Given the description of an element on the screen output the (x, y) to click on. 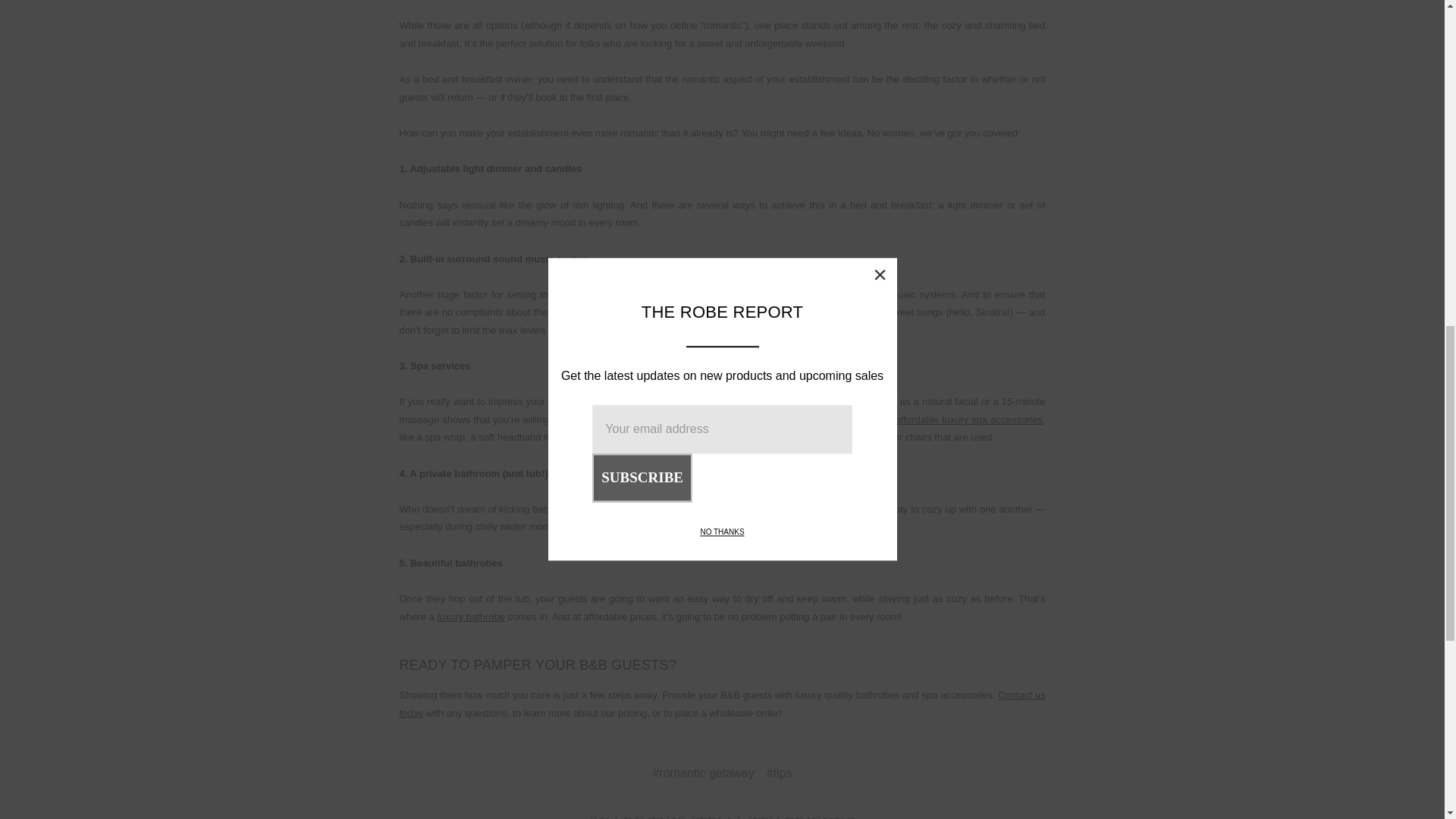
luxury bathrobe (470, 616)
Contact us today (721, 703)
affordable luxury spa accessories (968, 419)
